Given the description of an element on the screen output the (x, y) to click on. 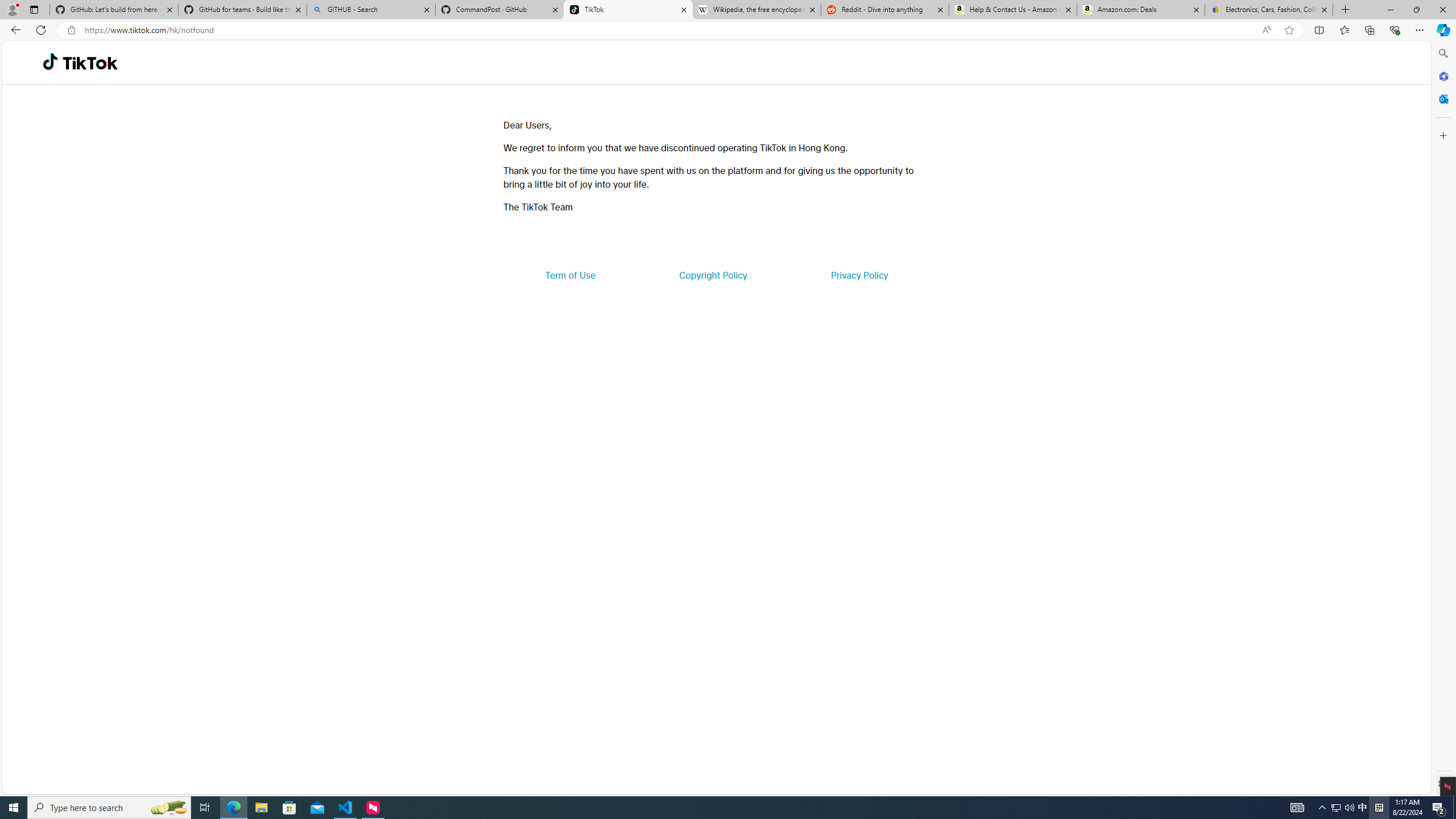
Electronics, Cars, Fashion, Collectibles & More | eBay (1268, 9)
Help & Contact Us - Amazon Customer Service (1012, 9)
Wikipedia, the free encyclopedia (756, 9)
Term of Use (569, 274)
